Given the description of an element on the screen output the (x, y) to click on. 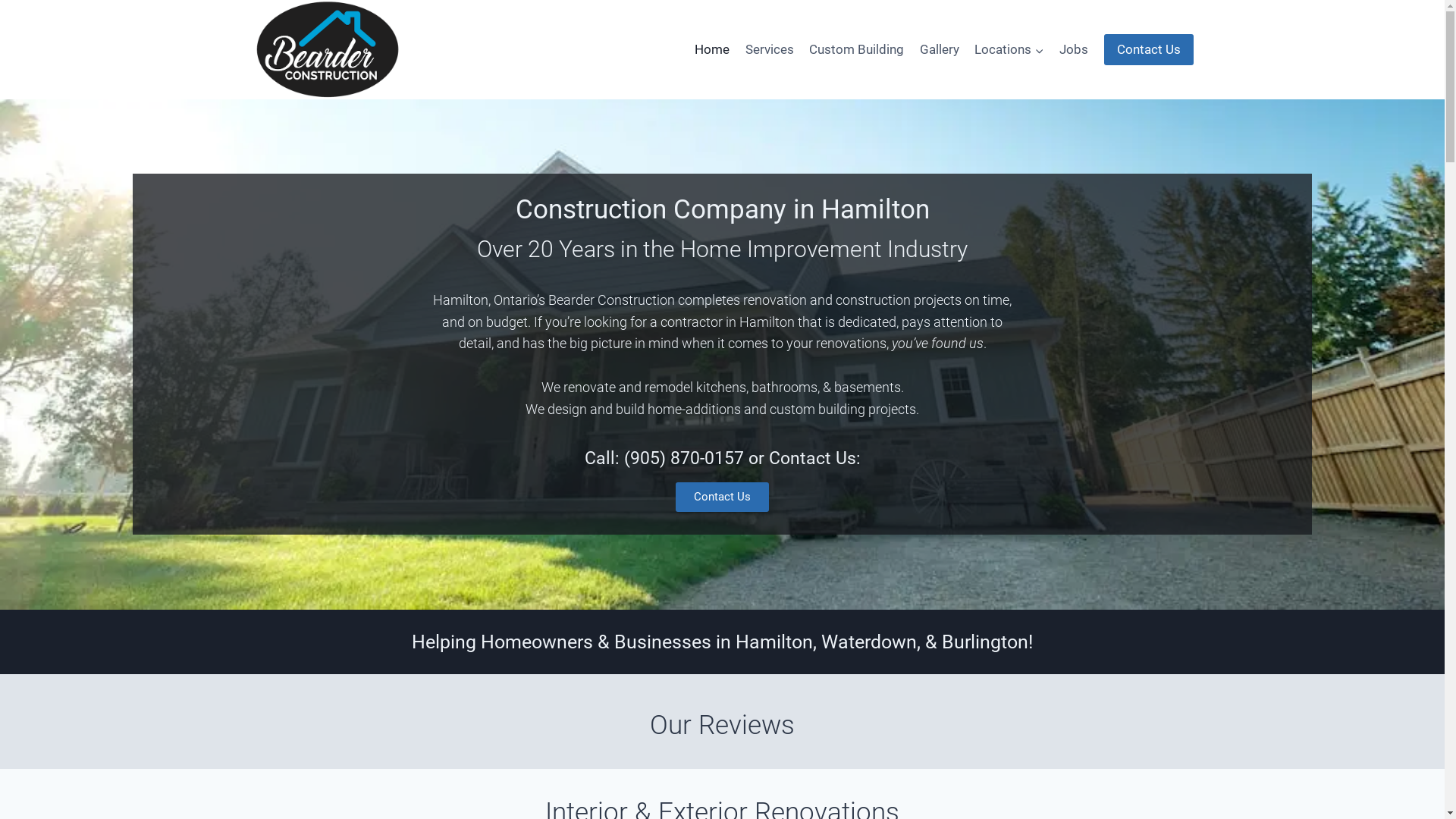
Locations Element type: text (1008, 49)
Custom Building Element type: text (856, 49)
Contact Us Element type: text (721, 496)
Home Element type: text (712, 49)
Gallery Element type: text (938, 49)
Jobs Element type: text (1073, 49)
Services Element type: text (769, 49)
Contact Us Element type: text (1148, 49)
